Given the description of an element on the screen output the (x, y) to click on. 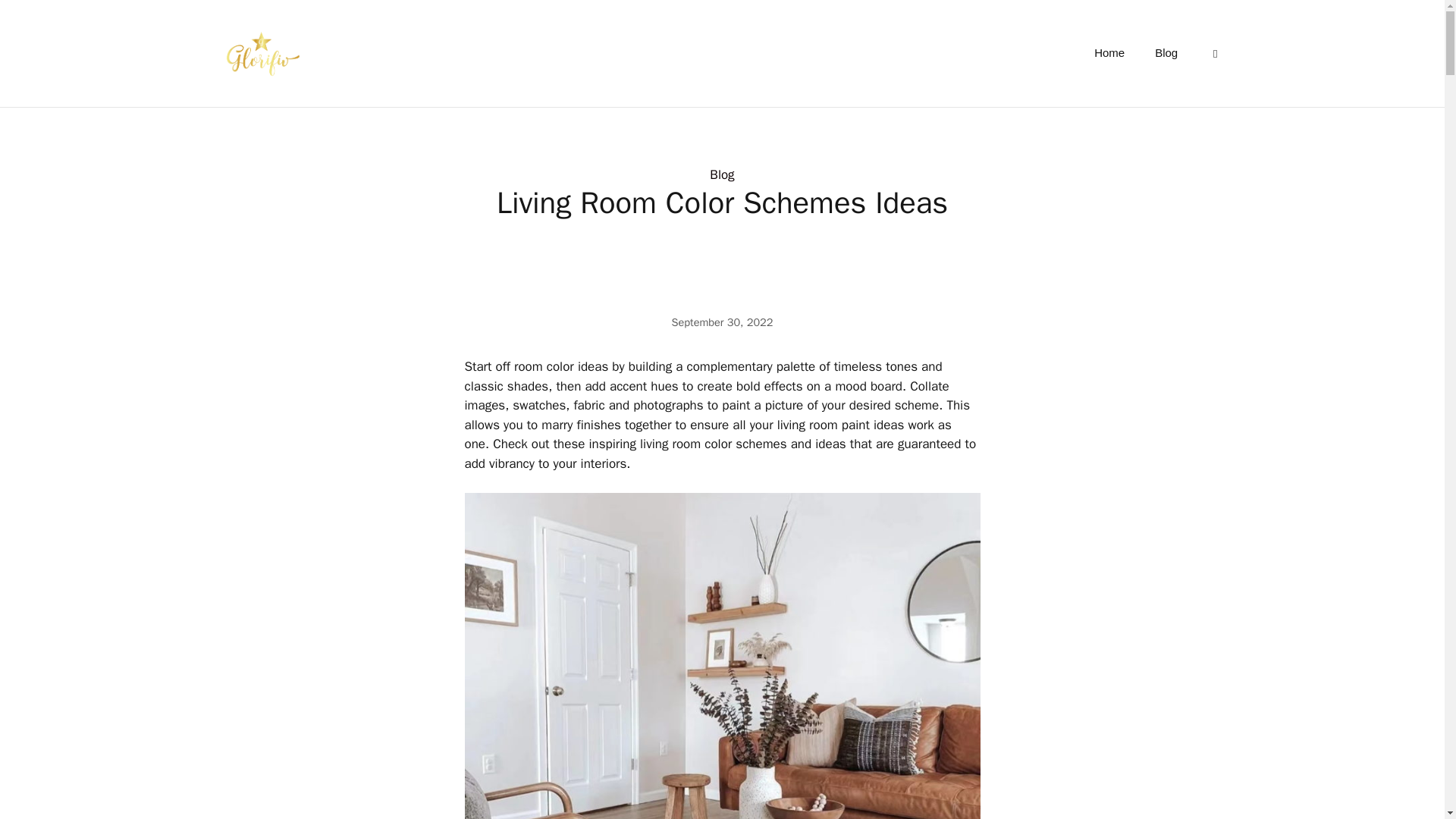
Glorifiv (259, 53)
Glorifiv (259, 52)
9:38 am (722, 322)
Blog (721, 174)
September 30, 2022 (722, 322)
Blog (1166, 53)
Home (1109, 53)
